Given the description of an element on the screen output the (x, y) to click on. 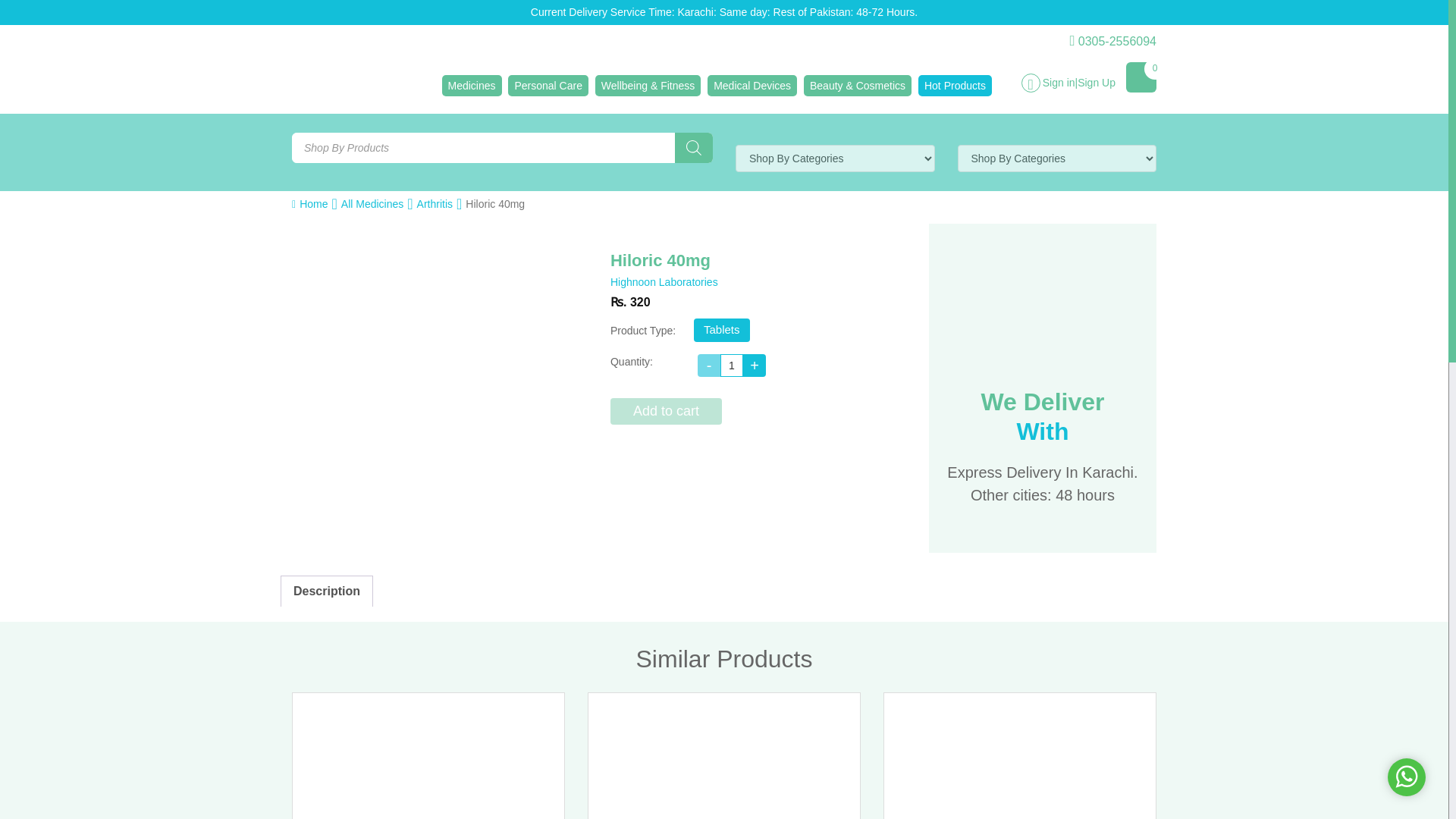
1 (731, 364)
0305-2556094 (1112, 41)
Medicines (470, 85)
Qty (731, 364)
